Given the description of an element on the screen output the (x, y) to click on. 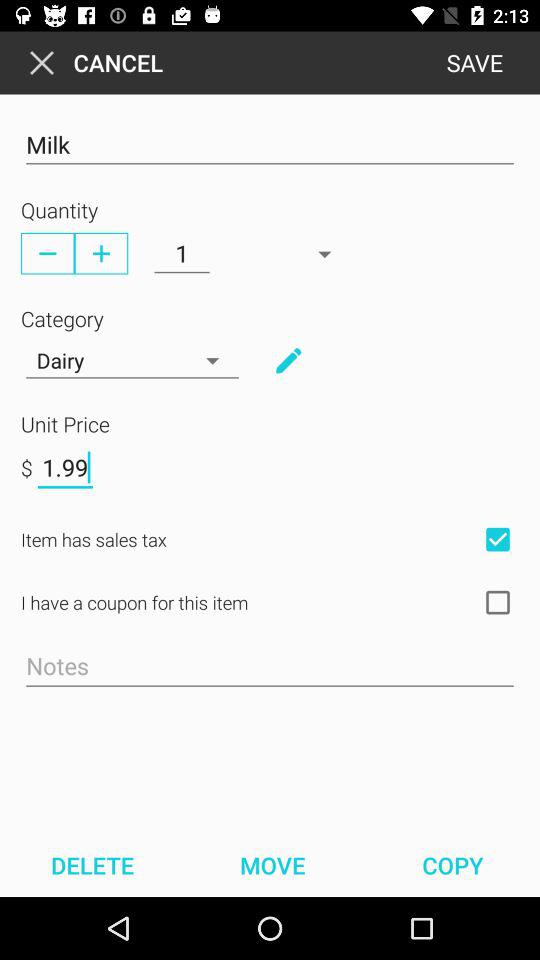
lower quantity of product (47, 253)
